Given the description of an element on the screen output the (x, y) to click on. 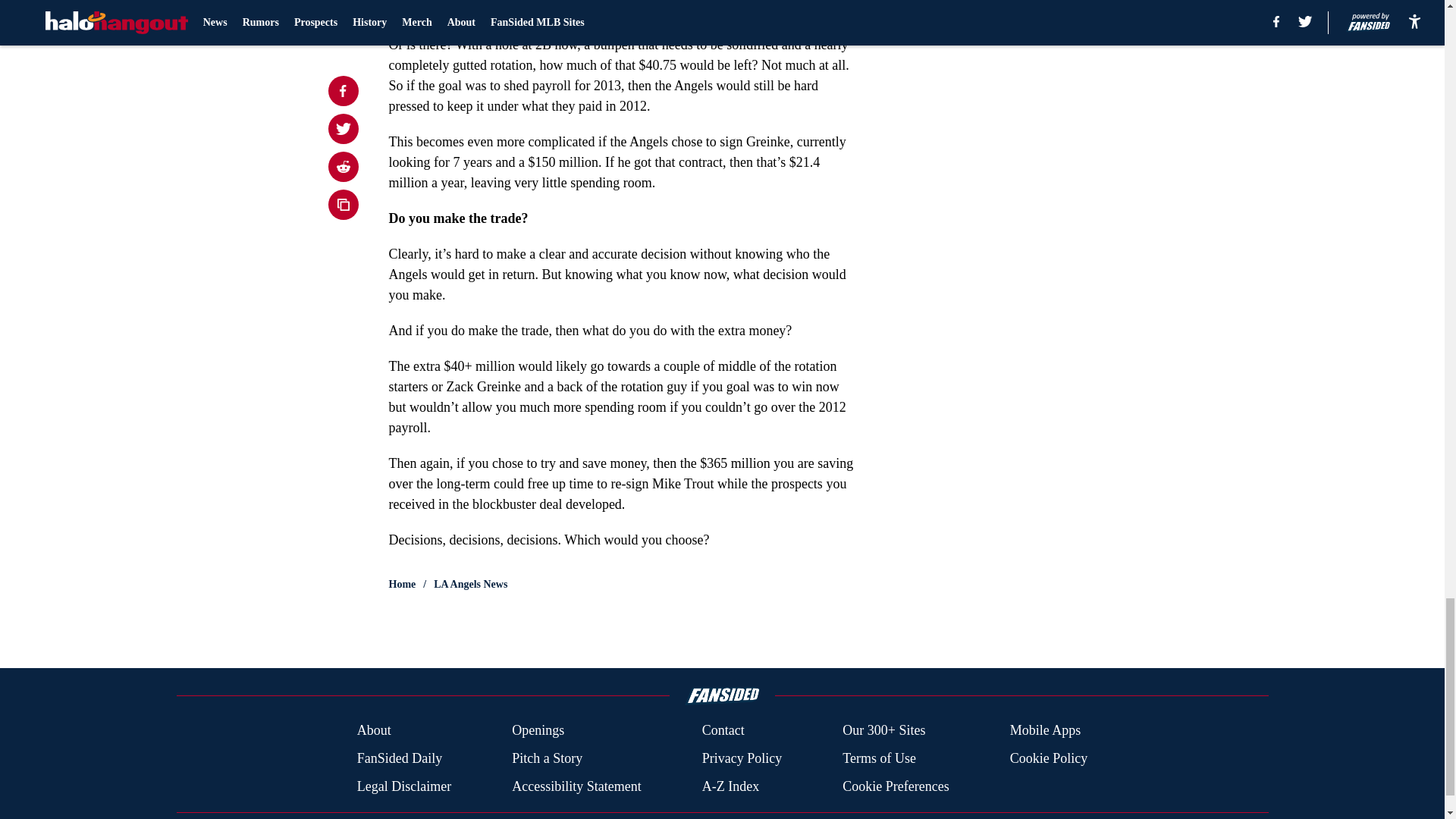
Home (401, 584)
Accessibility Statement (576, 786)
Pitch a Story (547, 758)
Cookie Policy (1048, 758)
Mobile Apps (1045, 730)
FanSided Daily (399, 758)
Openings (538, 730)
Contact (722, 730)
LA Angels News (469, 584)
Cookie Preferences (896, 786)
Terms of Use (879, 758)
Privacy Policy (742, 758)
Legal Disclaimer (403, 786)
A-Z Index (729, 786)
About (373, 730)
